Given the description of an element on the screen output the (x, y) to click on. 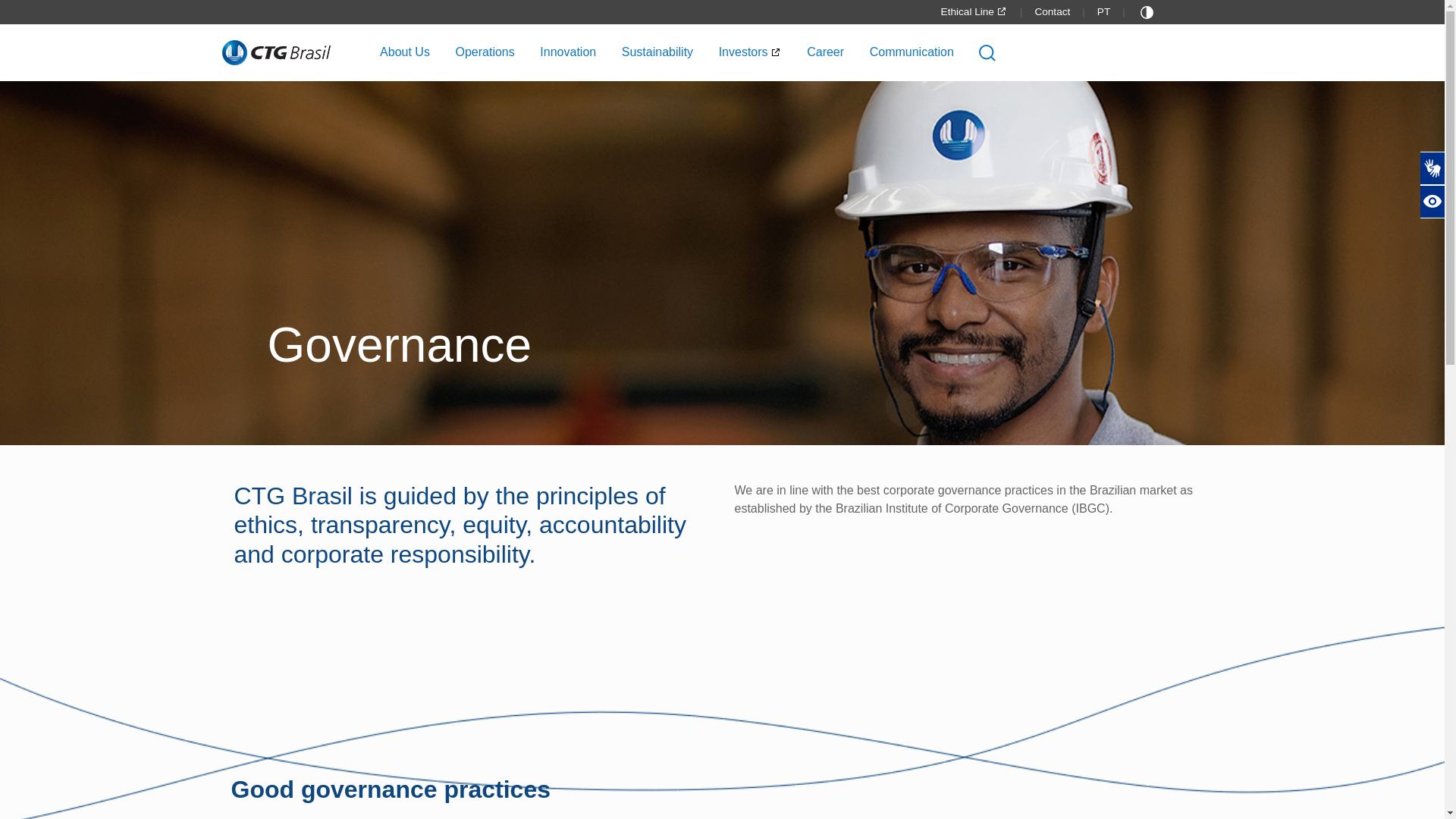
Ethical Line (973, 11)
Sustainability (657, 52)
Investors (750, 52)
Communication (911, 52)
Operations (483, 52)
Career (825, 52)
Contact (1051, 11)
Innovation (567, 52)
About Us (404, 52)
PT (1103, 11)
